Given the description of an element on the screen output the (x, y) to click on. 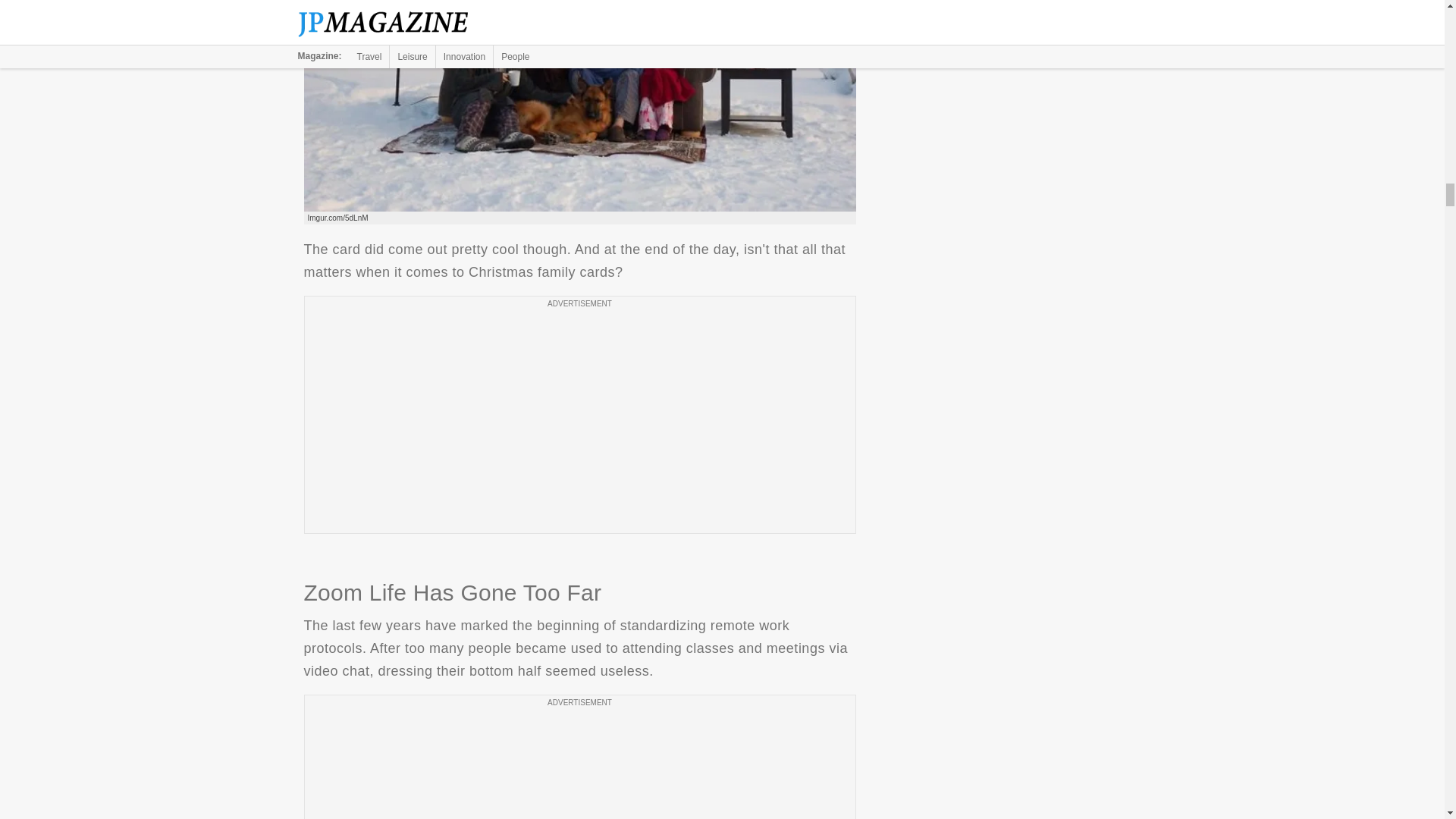
Ho Ho Ho in the Snow (579, 105)
